Given the description of an element on the screen output the (x, y) to click on. 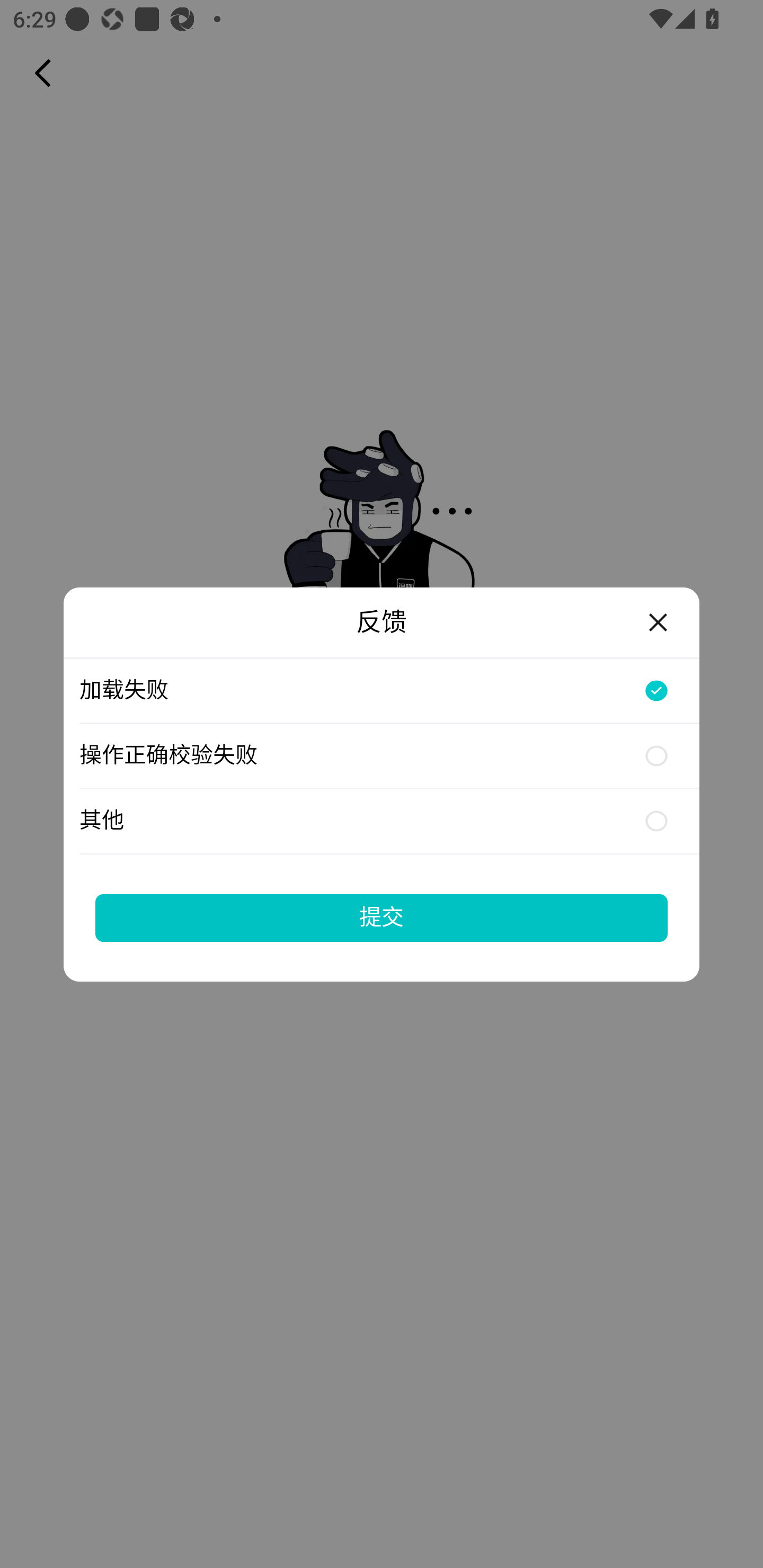
提交 (381, 917)
